Given the description of an element on the screen output the (x, y) to click on. 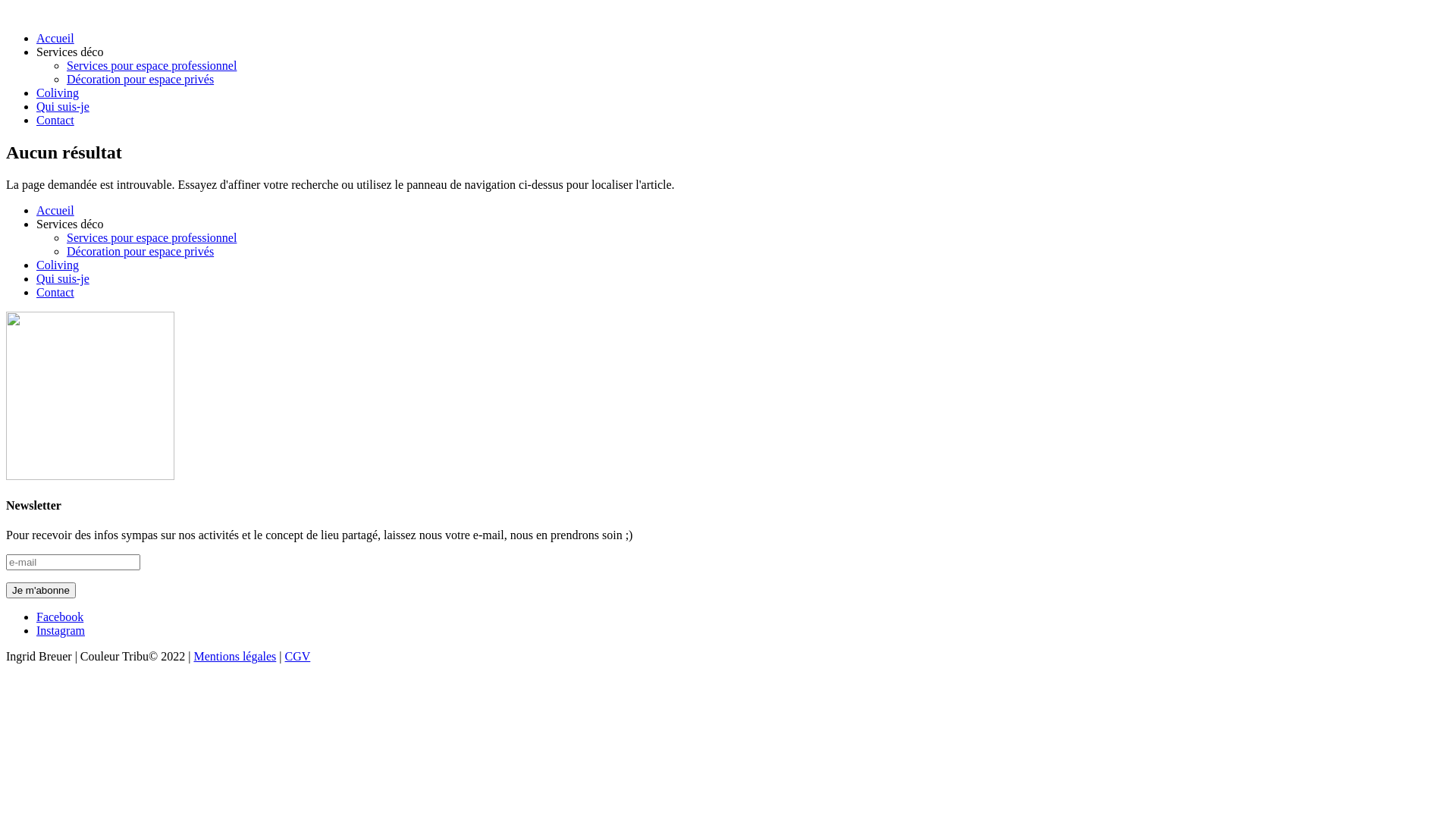
Services pour espace professionnel Element type: text (151, 237)
CGV Element type: text (297, 655)
Facebook Element type: text (59, 616)
Services pour espace professionnel Element type: text (151, 65)
Je m'abonne Element type: text (40, 590)
Qui suis-je Element type: text (62, 106)
Accueil Element type: text (55, 37)
Coliving Element type: text (57, 264)
Contact Element type: text (55, 291)
Contact Element type: text (55, 119)
Coliving Element type: text (57, 92)
Instagram Element type: text (60, 630)
Qui suis-je Element type: text (62, 278)
Accueil Element type: text (55, 209)
